Given the description of an element on the screen output the (x, y) to click on. 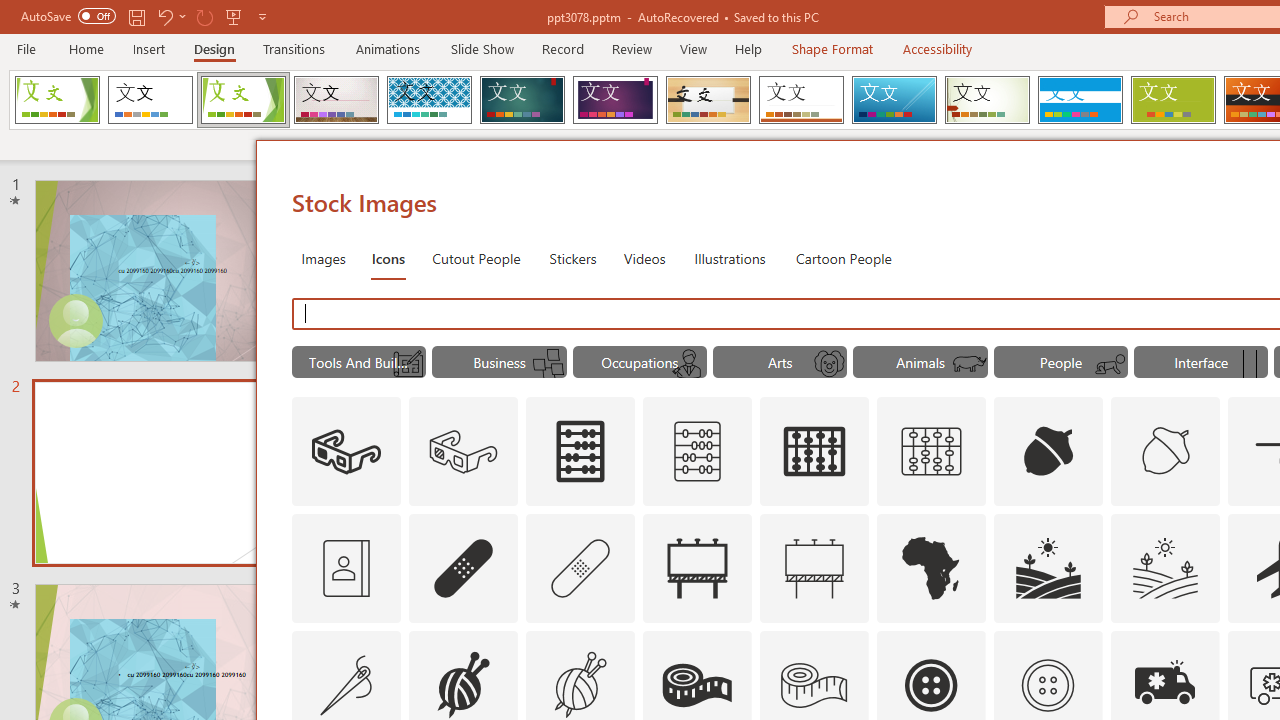
Cutout People (477, 258)
AutomationID: Icons_Rhino_M (970, 364)
AutomationID: Icons_Advertising_M (815, 568)
AutomationID: Icons_Acorn_M (1165, 452)
AutomationID: Icons_Abacus_M (697, 452)
Illustrations (729, 258)
AutomationID: Icons_Agriculture_M (1165, 568)
"Business" Icons. (499, 362)
Ion Boardroom (615, 100)
